Given the description of an element on the screen output the (x, y) to click on. 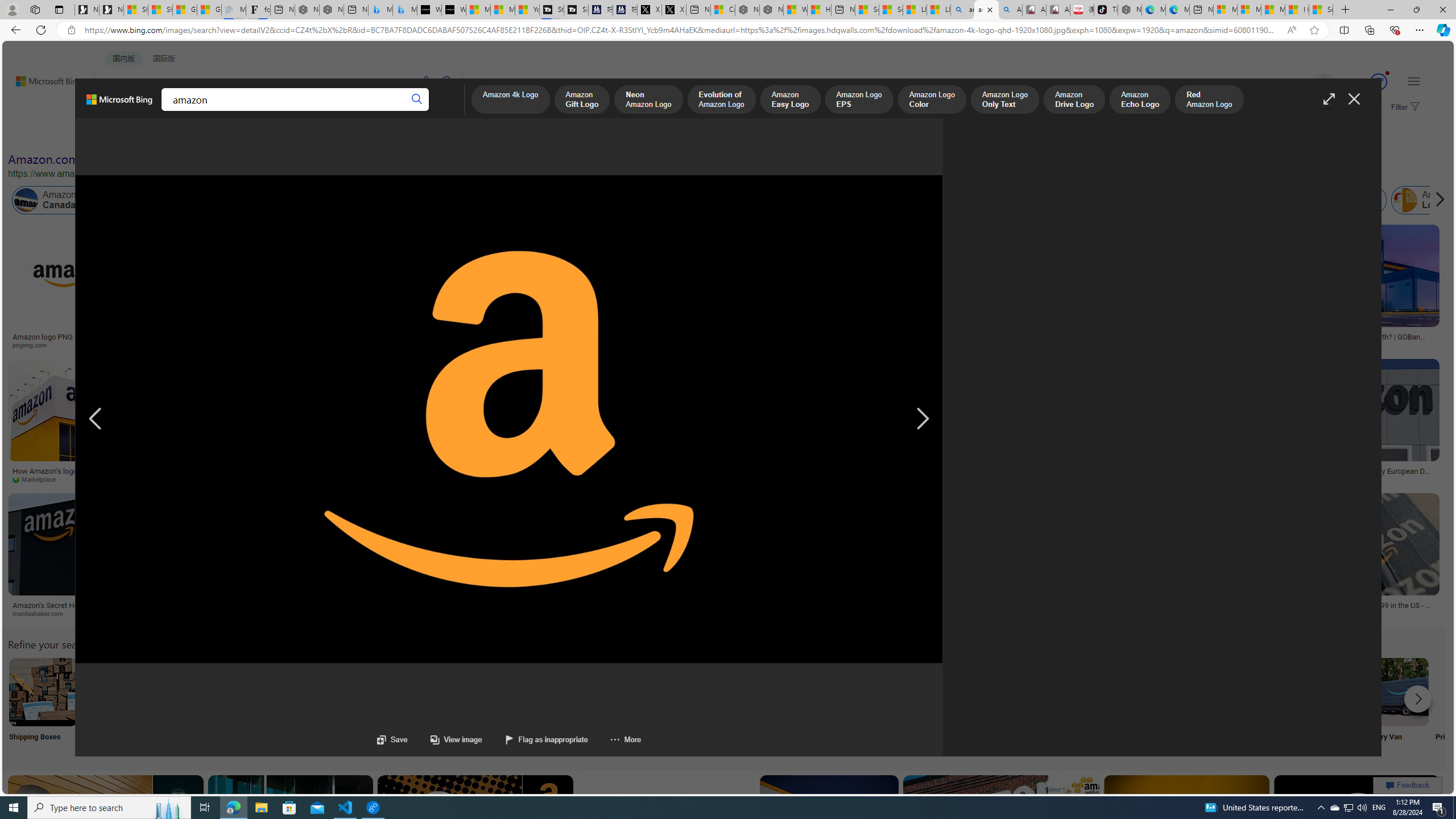
View image (444, 739)
Jobs Near Me (342, 706)
License (378, 135)
Amazon Online Shopping Homepage Online Shopping Homepage (868, 706)
Amazon Spain (1183, 199)
mobilemarketingmagazine.com (736, 479)
Kindle Paperwhite Case (617, 298)
Layout (253, 135)
